Given the description of an element on the screen output the (x, y) to click on. 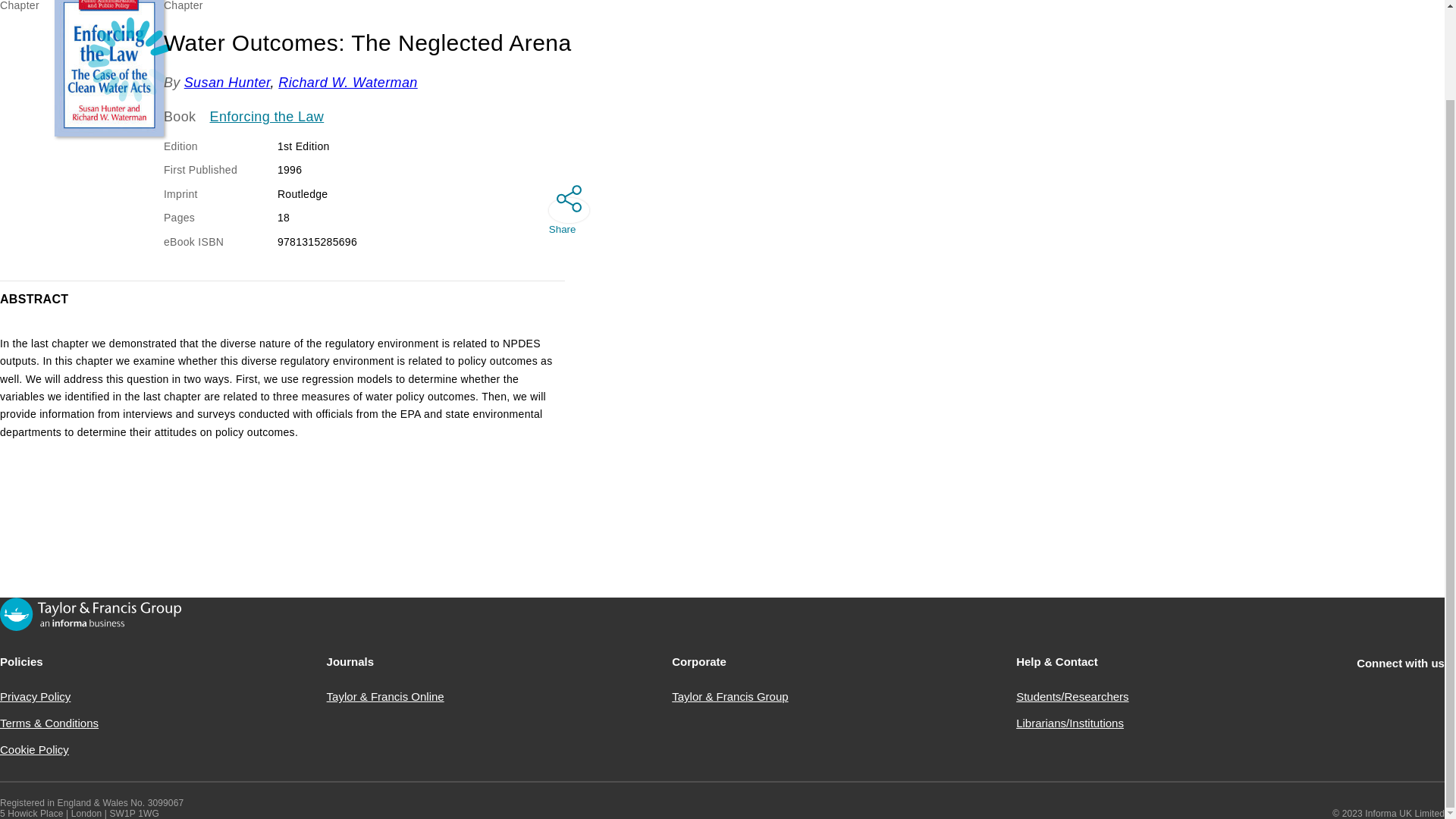
Susan Hunter (227, 82)
Privacy Policy (34, 696)
Enforcing the Law (266, 117)
Richard W. Waterman (347, 82)
Cookie Policy (34, 749)
